Given the description of an element on the screen output the (x, y) to click on. 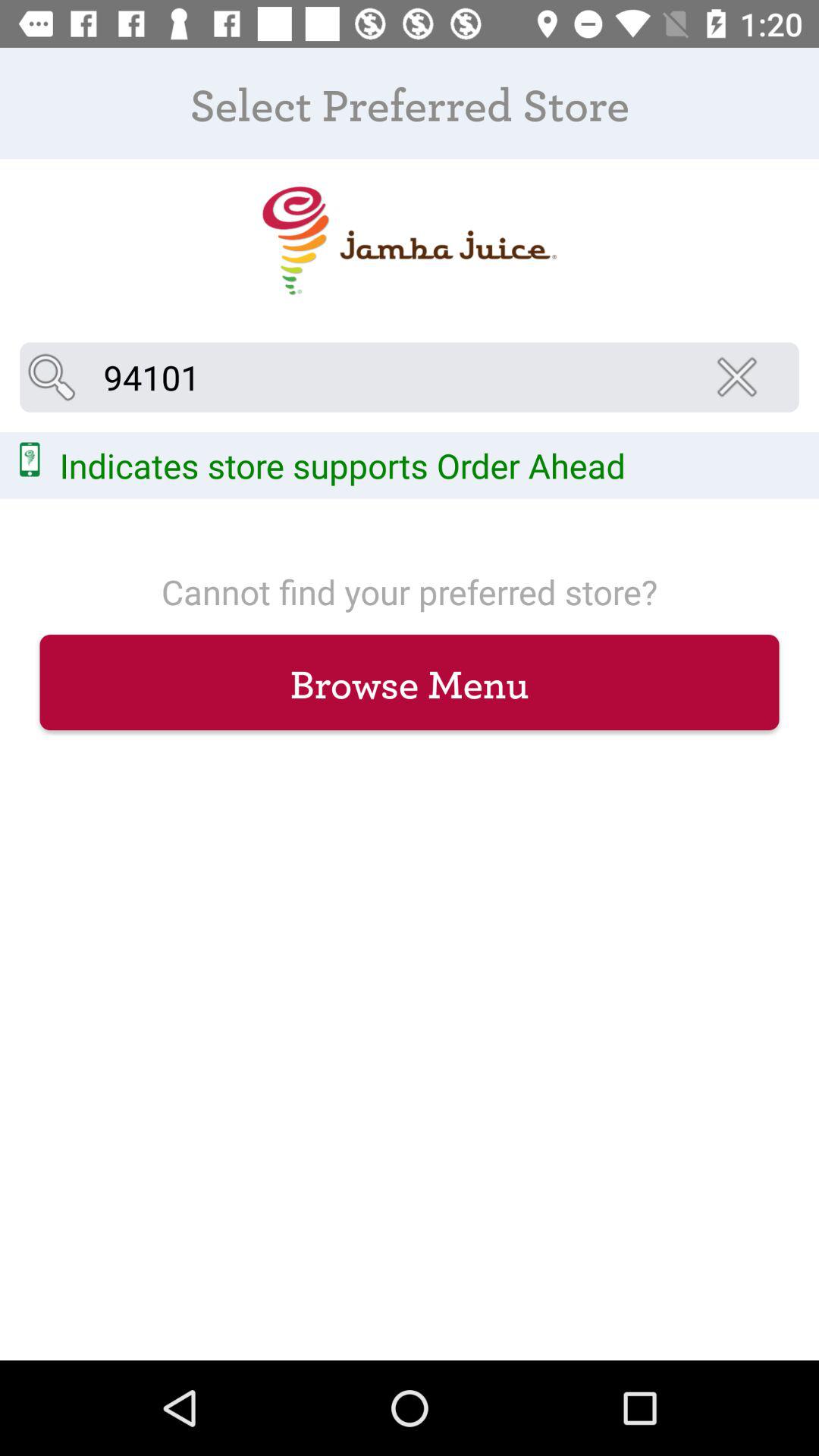
flip until the 94101 (409, 377)
